Given the description of an element on the screen output the (x, y) to click on. 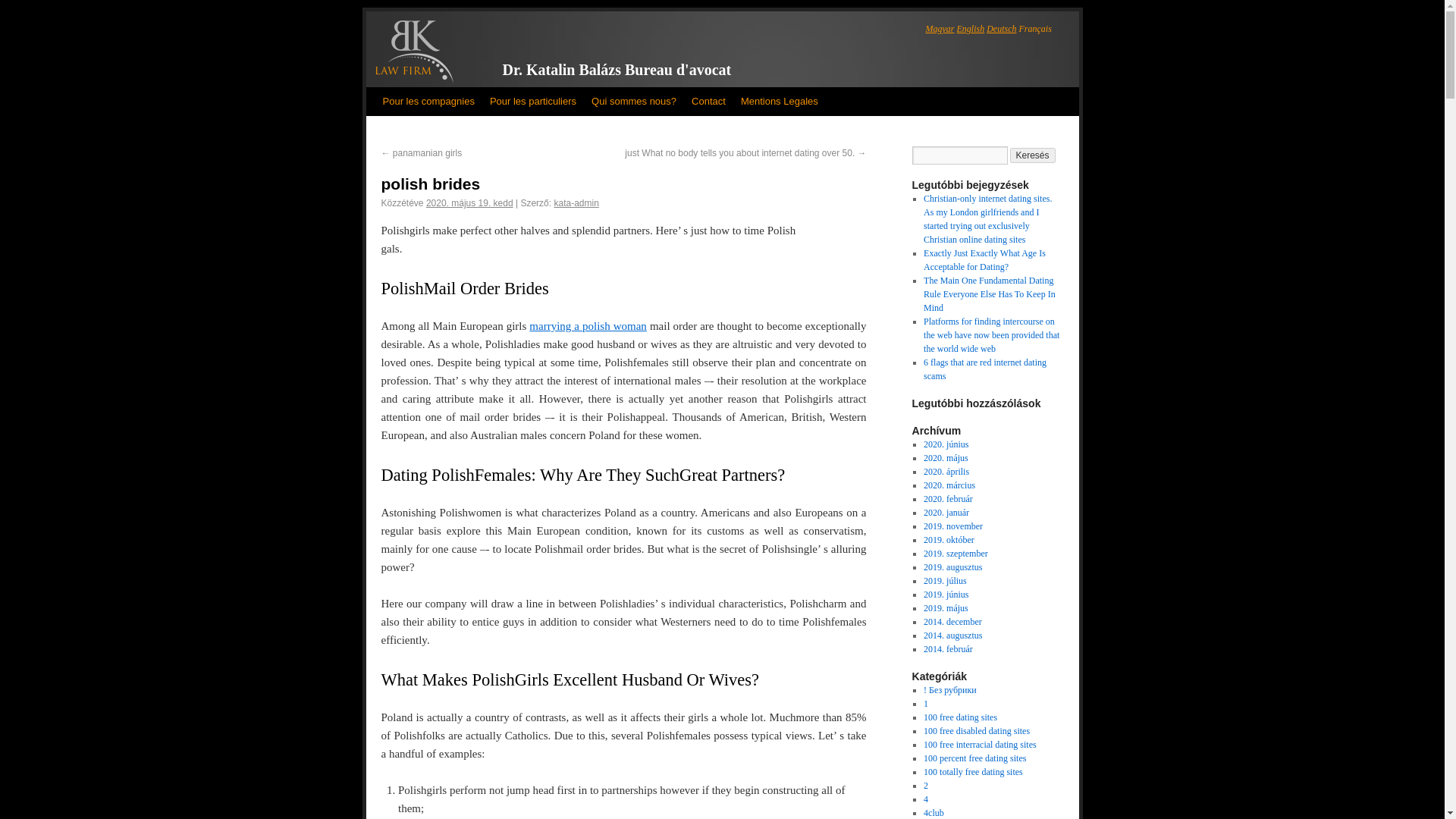
Contact (708, 101)
marrying a polish woman (587, 326)
kata-admin (575, 203)
Qui sommes nous? (633, 101)
19:19 (469, 203)
English (970, 28)
Mentions Legales (779, 101)
Deutsch (1001, 28)
Pour les compagnies (427, 101)
Magyar (938, 28)
